Given the description of an element on the screen output the (x, y) to click on. 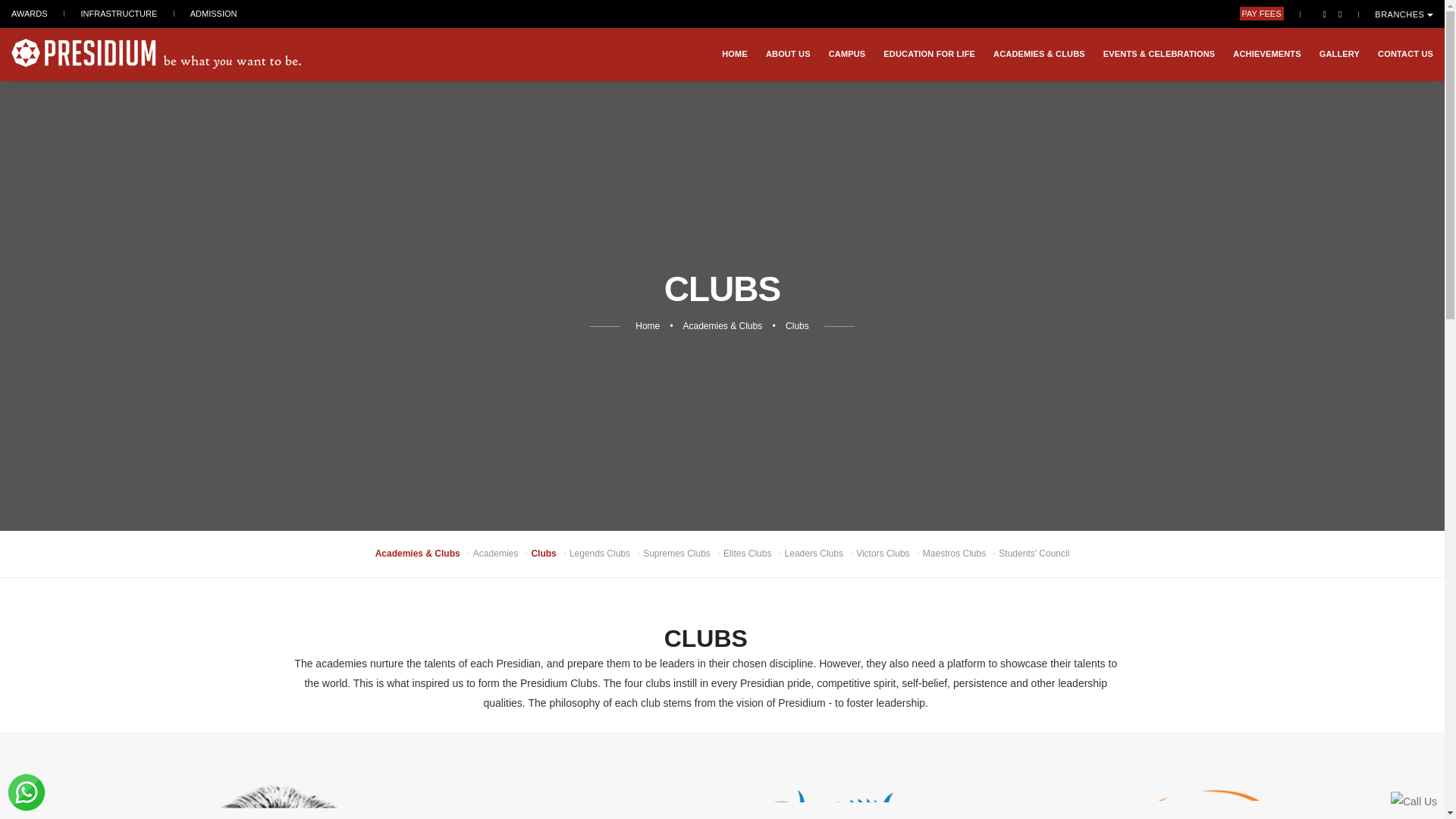
PAY FEES (1262, 13)
ADMISSION (213, 13)
Facebook (1324, 13)
INFRASTRUCTURE (118, 13)
AWARDS (28, 13)
BRANCHES (1403, 14)
EDUCATION FOR LIFE (929, 53)
